Given the description of an element on the screen output the (x, y) to click on. 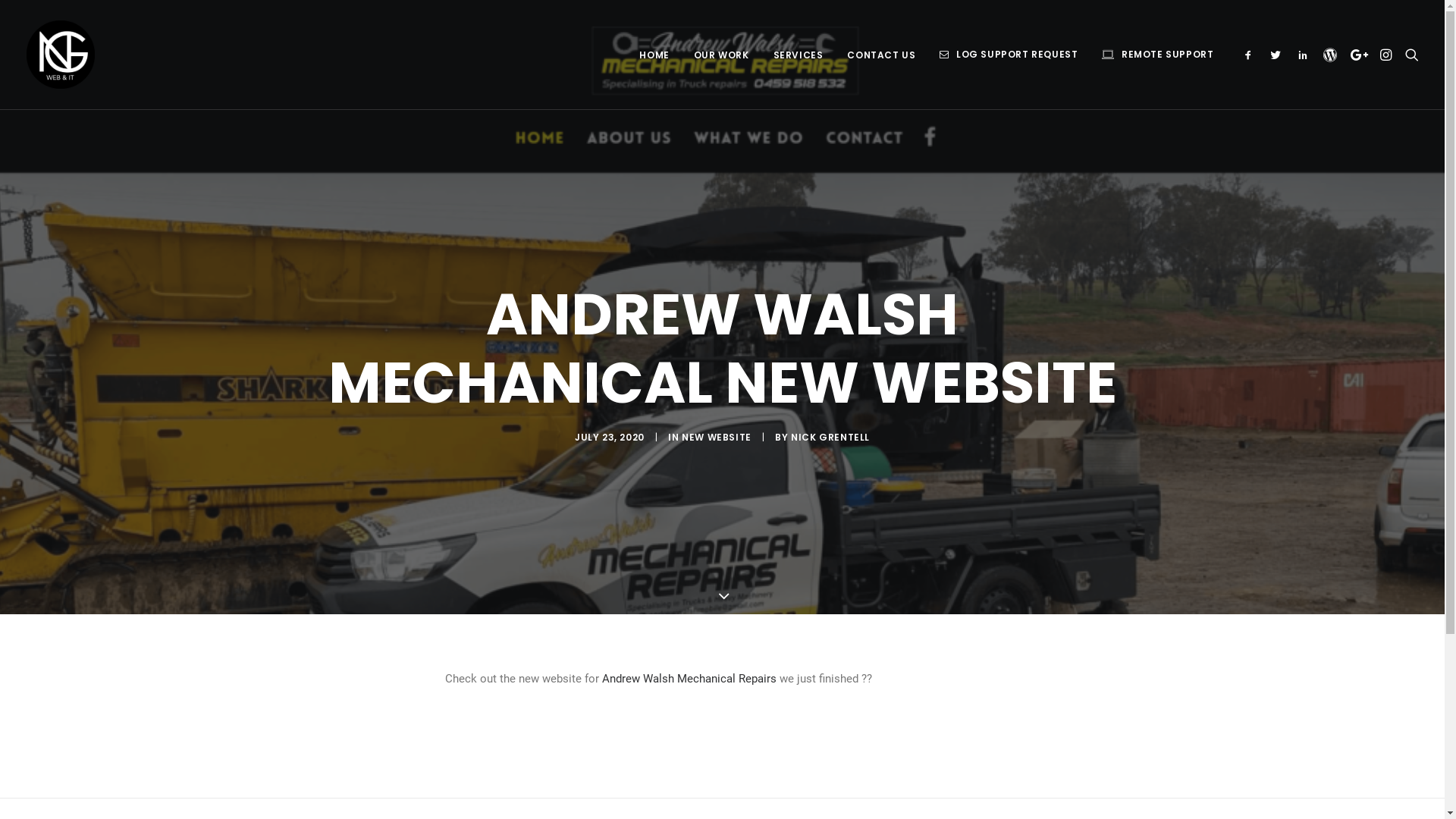
SERVICES Element type: text (798, 54)
HOME Element type: text (653, 54)
CONTACT US Element type: text (880, 54)
LOG SUPPORT REQUEST Element type: text (1008, 54)
OUR WORK Element type: text (721, 54)
NEW WEBSITE Element type: text (716, 436)
Andrew Walsh Mechanical Repairs Element type: text (689, 678)
NICK GRENTELL Element type: text (829, 436)
REMOTE SUPPORT Element type: text (1152, 54)
